Given the description of an element on the screen output the (x, y) to click on. 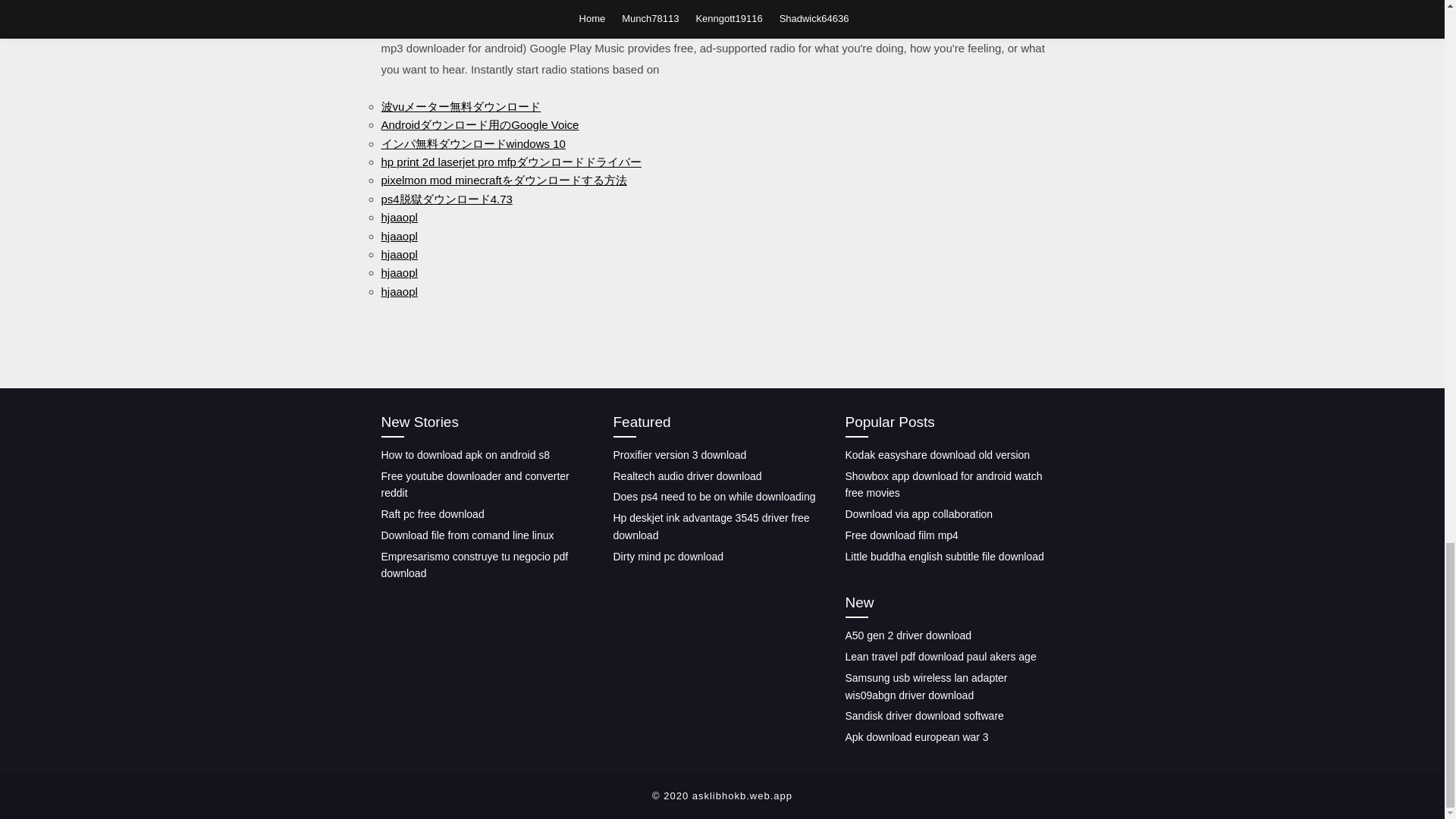
A50 gen 2 driver download (907, 635)
Kodak easyshare download old version (936, 454)
Hp deskjet ink advantage 3545 driver free download (710, 526)
How to download apk on android s8 (465, 454)
Download via app collaboration (918, 513)
Samsung usb wireless lan adapter wis09abgn driver download (925, 686)
Does ps4 need to be on while downloading (713, 496)
Sandisk driver download software (923, 715)
Lean travel pdf download paul akers age (939, 656)
Apk download european war 3 (916, 736)
